Given the description of an element on the screen output the (x, y) to click on. 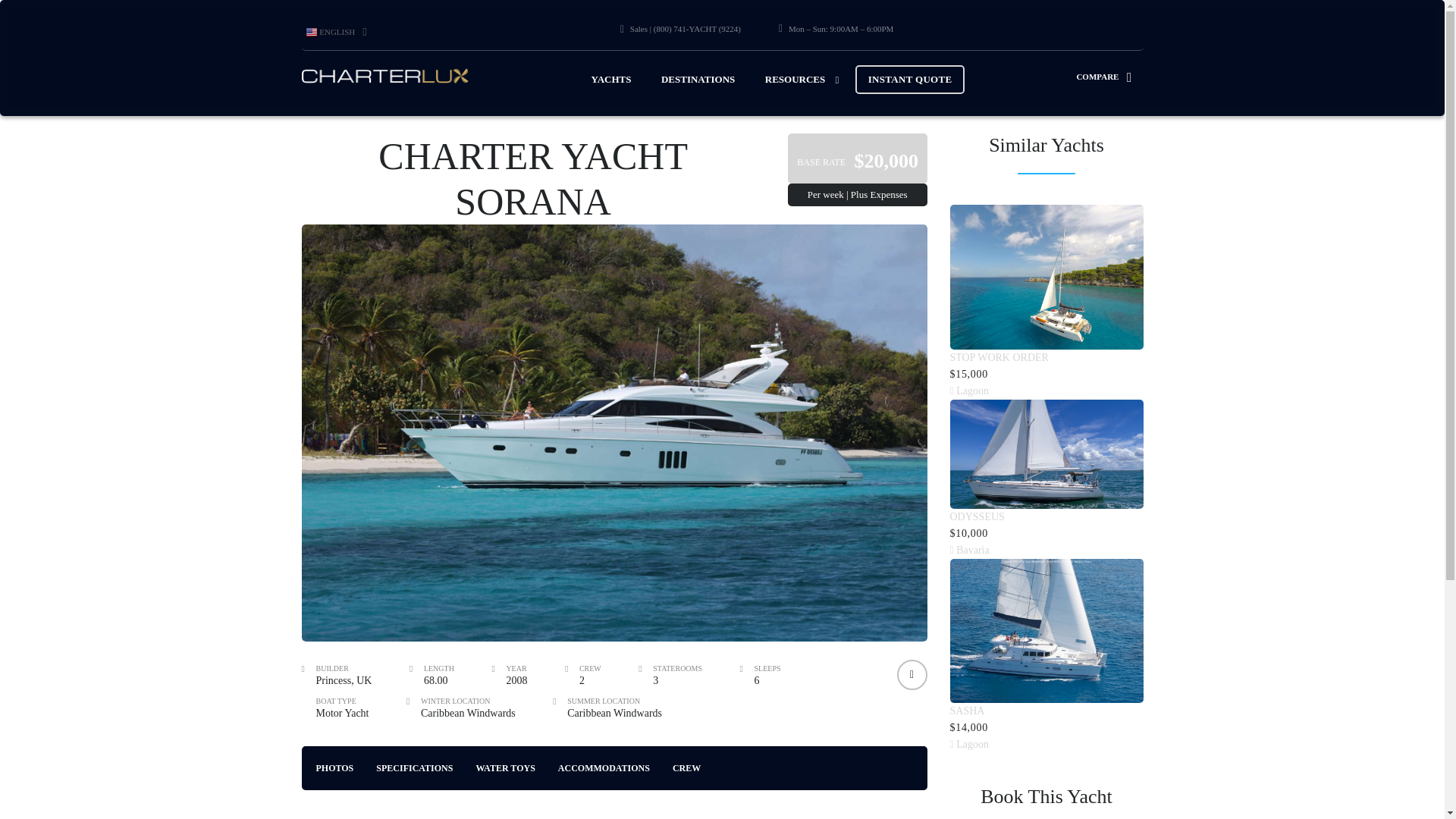
DESTINATIONS (698, 79)
YACHTS (610, 79)
INSTANT QUOTE (909, 79)
RESOURCES (795, 79)
Home (384, 75)
INSTANT QUOTE (909, 79)
ENGLISH (336, 31)
Watch compared (1108, 75)
COMPARE (1108, 75)
